Given the description of an element on the screen output the (x, y) to click on. 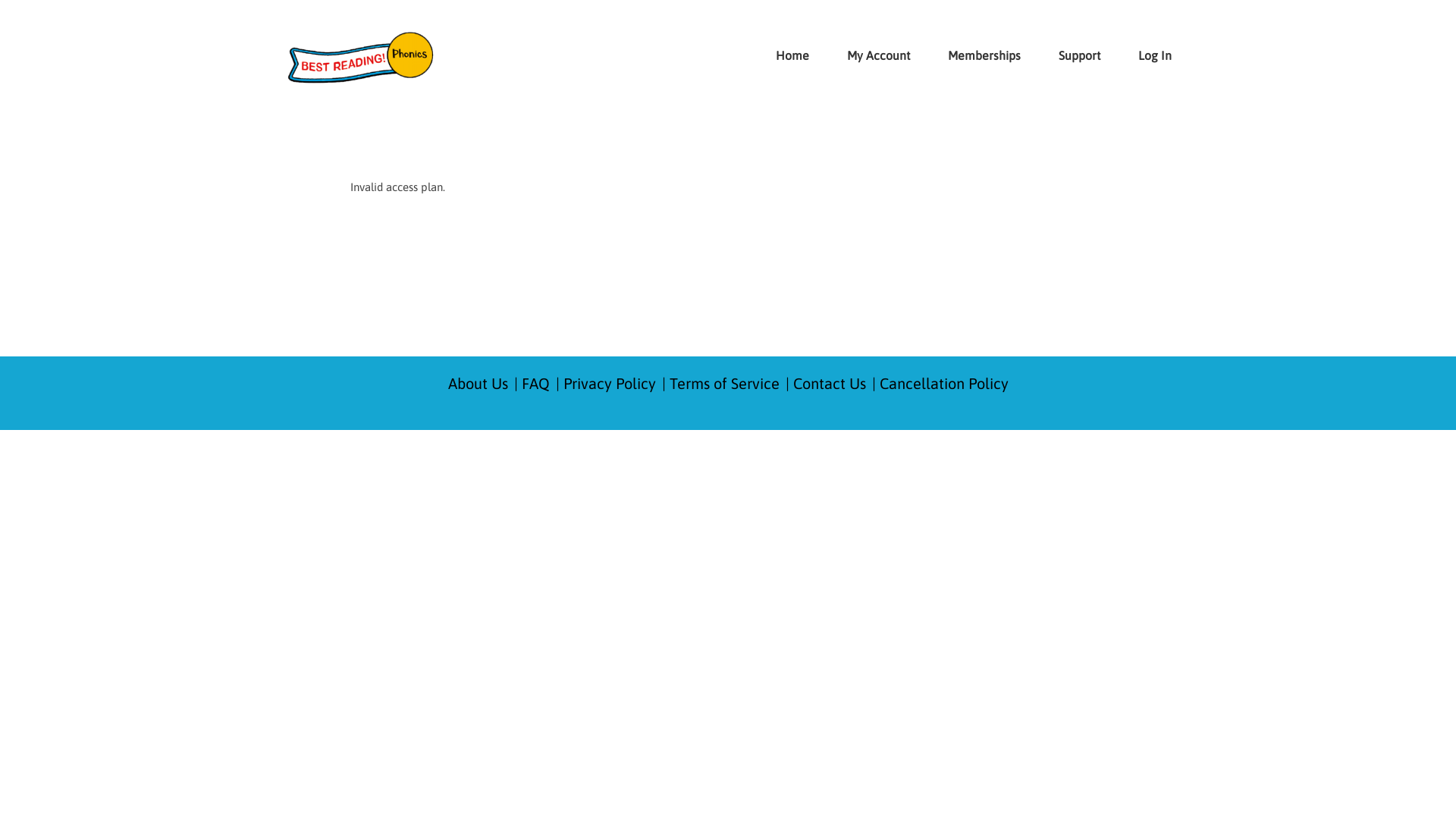
Support Element type: text (1067, 55)
My Account Element type: text (867, 55)
Contact Us Element type: text (829, 383)
About Us Element type: text (477, 383)
Memberships Element type: text (972, 55)
Log In Element type: text (1143, 55)
Home Element type: text (792, 55)
Best Reading! Phonics Element type: hover (360, 57)
Terms of Service Element type: text (723, 383)
Cancellation Policy Element type: text (943, 383)
Privacy Policy Element type: text (608, 383)
FAQ Element type: text (535, 383)
